Given the description of an element on the screen output the (x, y) to click on. 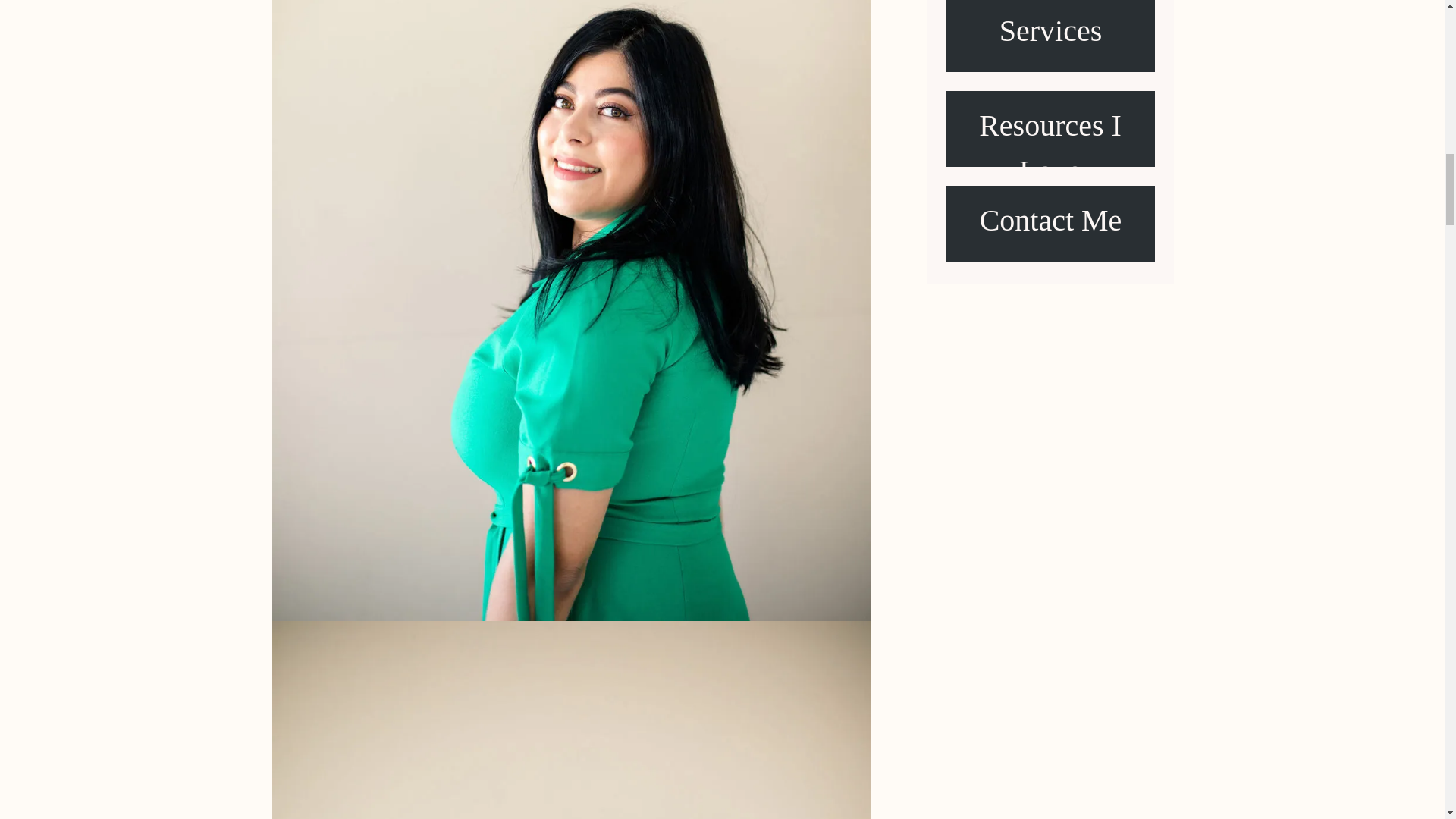
Resources I Love (1050, 128)
Contact Me (1050, 223)
Services (1050, 33)
